Given the description of an element on the screen output the (x, y) to click on. 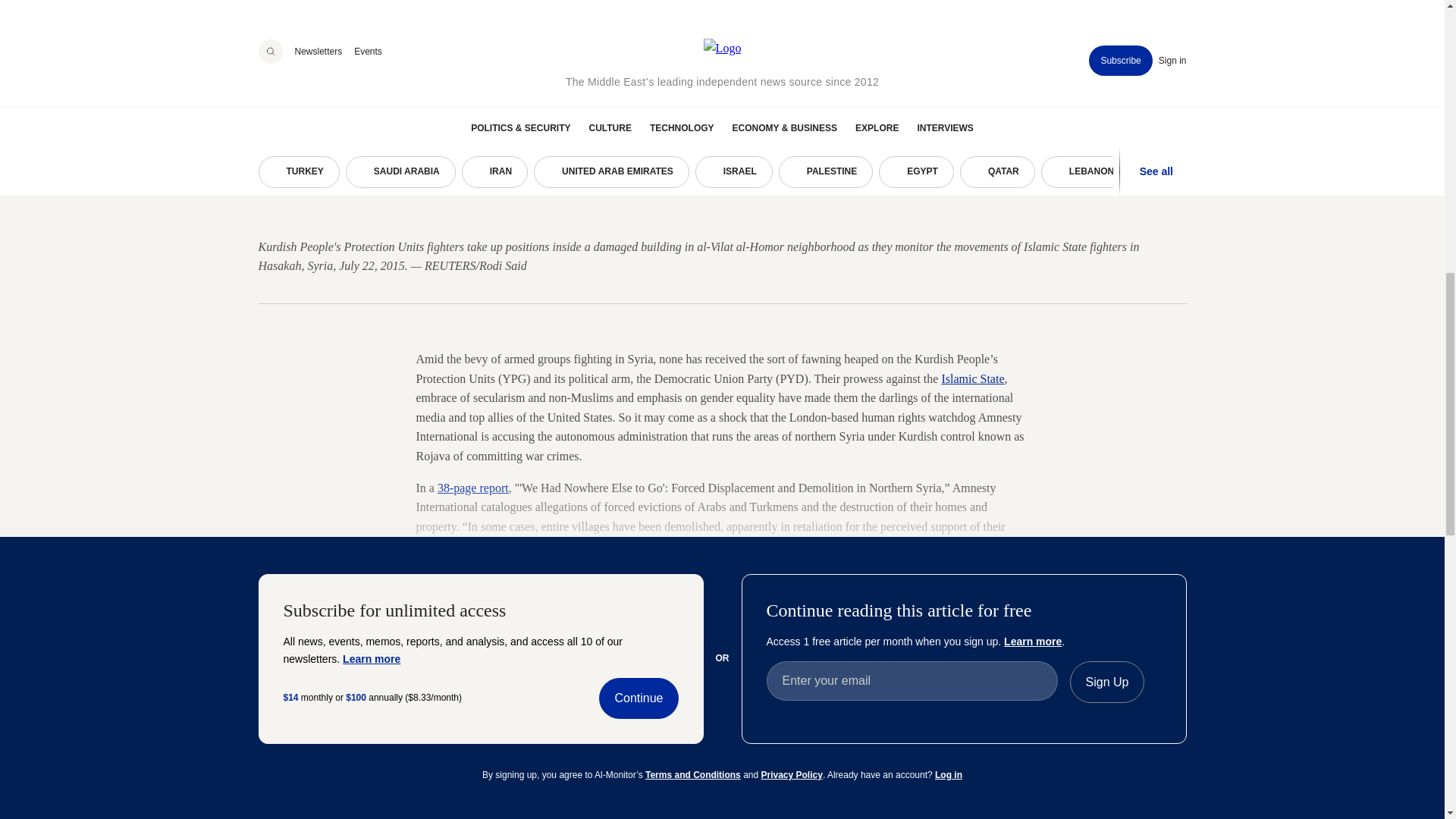
Related Articles (315, 666)
Related Articles (721, 666)
